Given the description of an element on the screen output the (x, y) to click on. 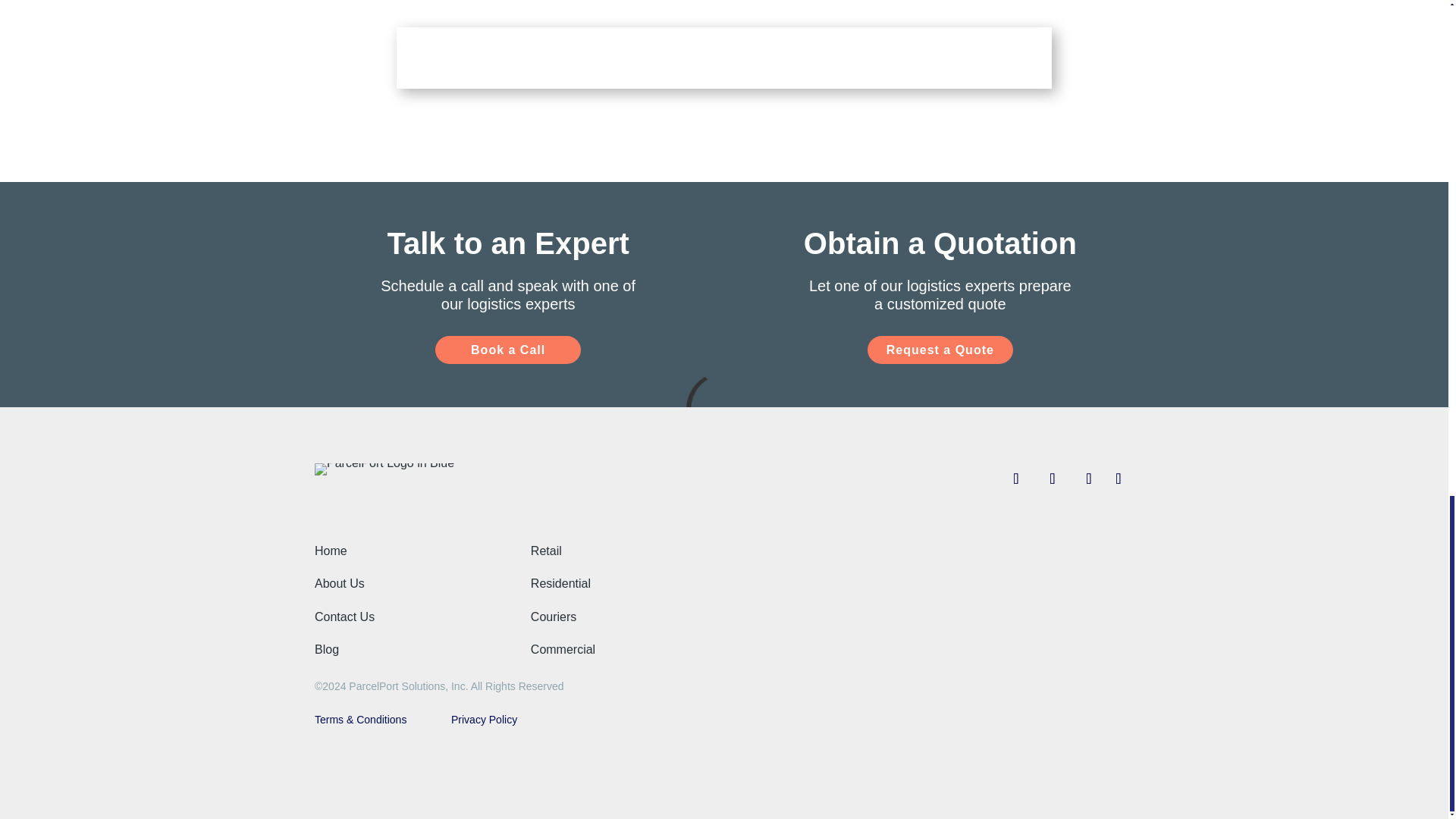
Blog (326, 649)
Contact Us (344, 616)
Request a Quote (940, 349)
Follow on Instagram (1088, 478)
Residential (561, 583)
Commercial (563, 649)
Couriers (553, 616)
About Us (339, 583)
Retail (546, 550)
Follow on LinkedIn (1118, 478)
